Given the description of an element on the screen output the (x, y) to click on. 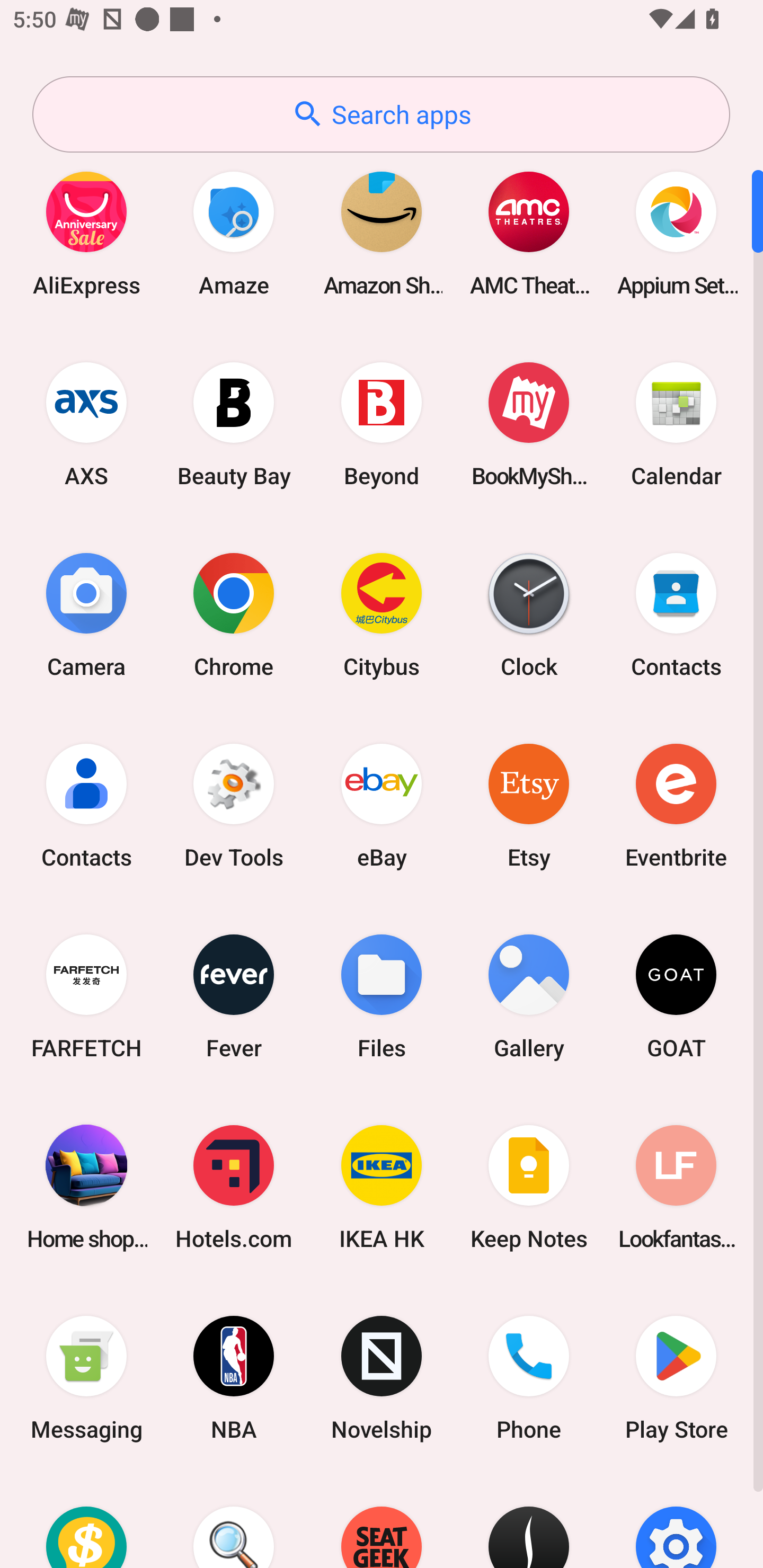
  Search apps (381, 114)
AliExpress (86, 233)
Amaze (233, 233)
Amazon Shopping (381, 233)
AMC Theatres (528, 233)
Appium Settings (676, 233)
AXS (86, 424)
Beauty Bay (233, 424)
Beyond (381, 424)
BookMyShow (528, 424)
Calendar (676, 424)
Camera (86, 614)
Chrome (233, 614)
Citybus (381, 614)
Clock (528, 614)
Contacts (676, 614)
Contacts (86, 805)
Dev Tools (233, 805)
eBay (381, 805)
Etsy (528, 805)
Eventbrite (676, 805)
FARFETCH (86, 996)
Fever (233, 996)
Files (381, 996)
Gallery (528, 996)
GOAT (676, 996)
Home shopping (86, 1186)
Hotels.com (233, 1186)
IKEA HK (381, 1186)
Keep Notes (528, 1186)
Lookfantastic (676, 1186)
Messaging (86, 1377)
NBA (233, 1377)
Novelship (381, 1377)
Phone (528, 1377)
Play Store (676, 1377)
Price (86, 1520)
Search (233, 1520)
SeatGeek (381, 1520)
Sephora (528, 1520)
Settings (676, 1520)
